Given the description of an element on the screen output the (x, y) to click on. 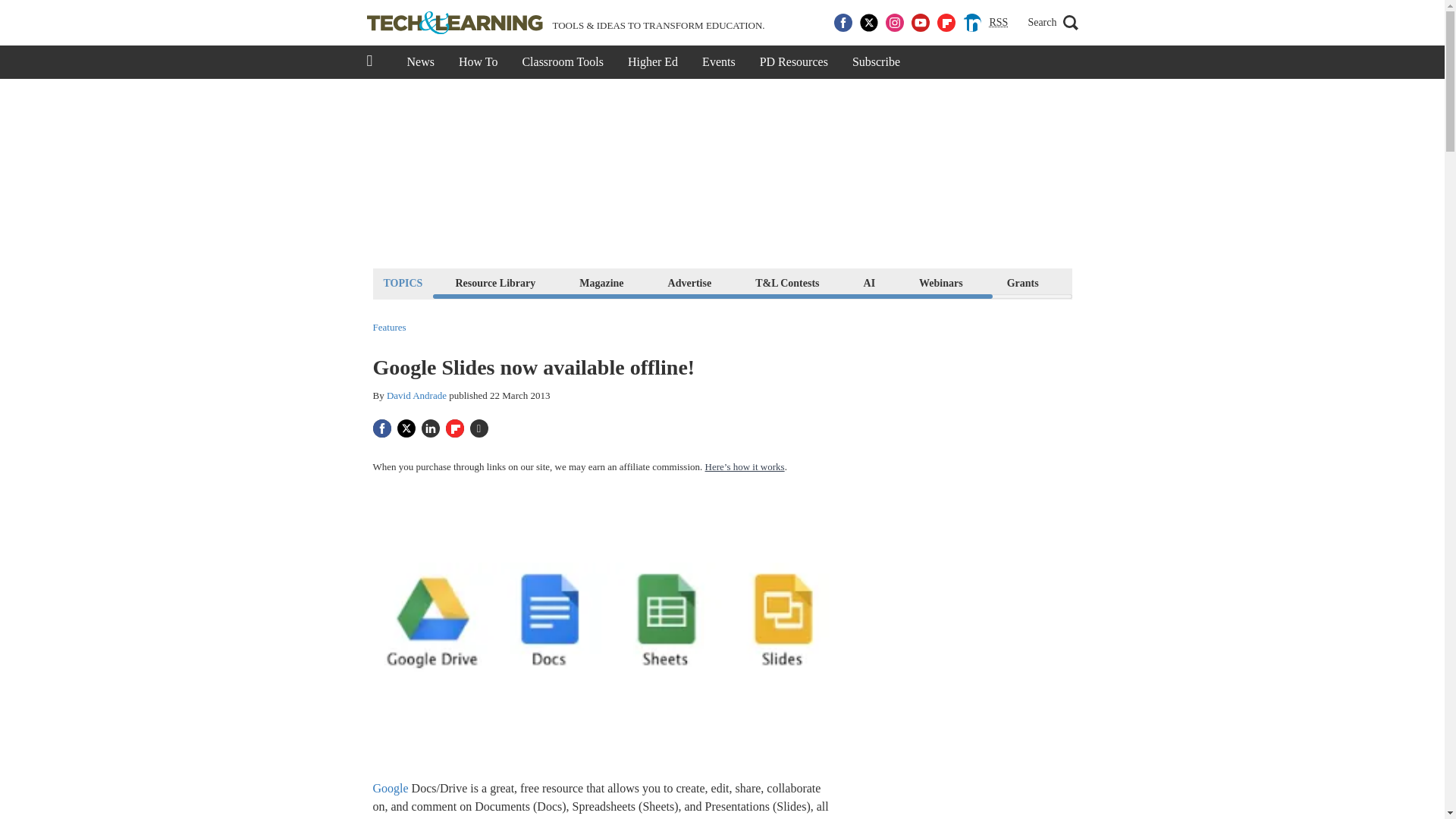
How To (477, 61)
Classroom Tools (561, 61)
RSS (997, 22)
Magazine (600, 282)
Resource Library (494, 282)
Features (389, 327)
Google (390, 788)
Higher Ed (652, 61)
PD Resources (794, 61)
Webinars (941, 282)
